Given the description of an element on the screen output the (x, y) to click on. 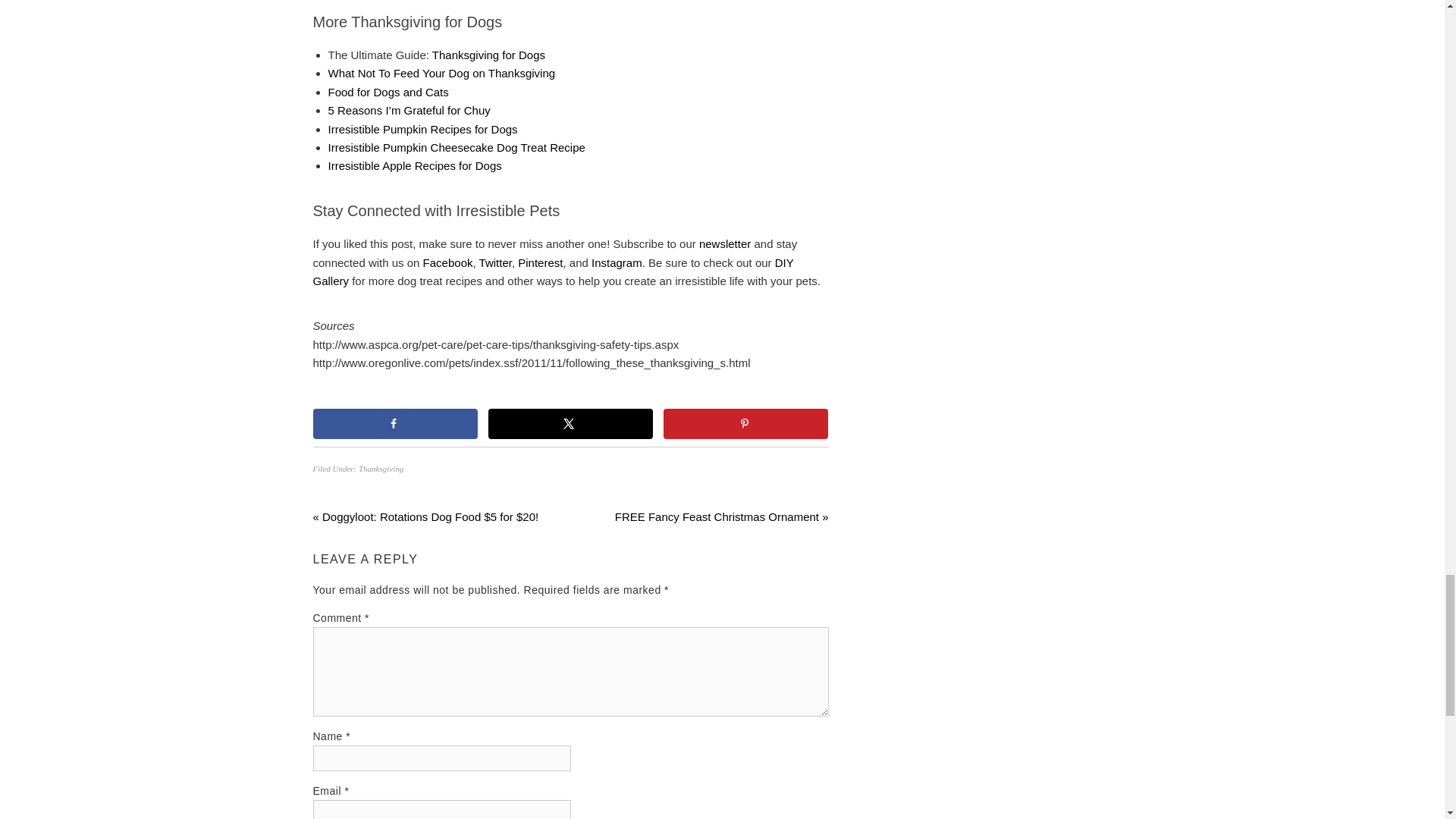
Pinterest (540, 262)
Share on X (570, 423)
Irresistible Apple Recipes for Dogs (413, 164)
Irresistible Pumpkin Cheesecake Dog Treat Recipe (456, 146)
DIY Gallery (553, 271)
Thanksgiving (380, 468)
Save to Pinterest (745, 423)
newsletter  (726, 243)
Thanksgiving for Dogs (488, 54)
Facebook (448, 262)
What Not To Feed Your Dog on Thanksgiving (440, 72)
Share on Facebook (395, 423)
Food for Dogs and Cats (387, 91)
Instagram (616, 262)
Twitter (495, 262)
